Given the description of an element on the screen output the (x, y) to click on. 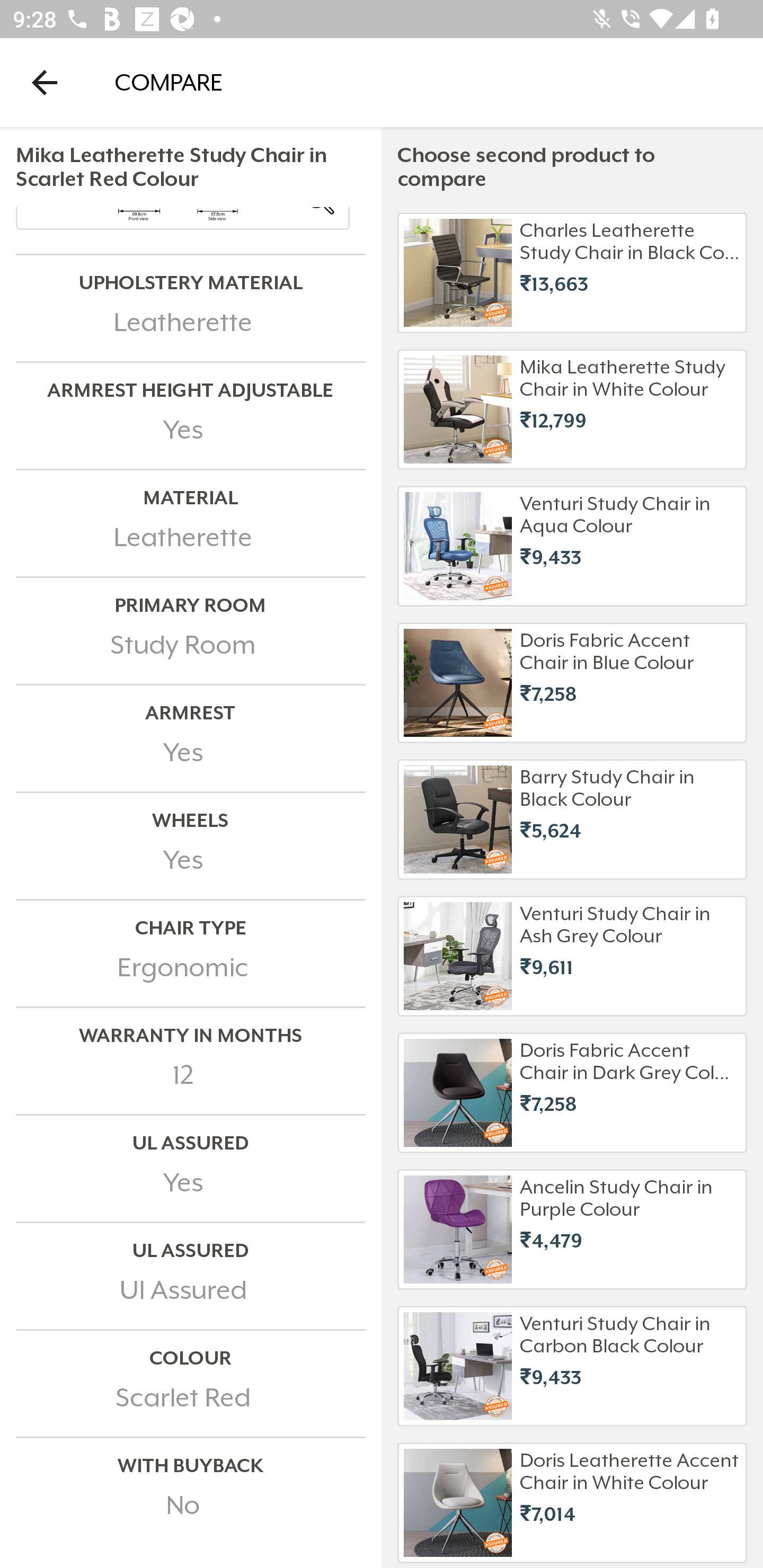
Navigate up (44, 82)
Venturi Study Chair in Aqua Colour ₹9,433 (571, 546)
Doris Fabric Accent Chair in Blue Colour ₹7,258 (571, 682)
Barry Study Chair in Black Colour ₹5,624 (571, 818)
Venturi Study Chair in Ash Grey Colour ₹9,611 (571, 955)
Ancelin Study Chair in Purple Colour ₹4,479 (571, 1229)
Venturi Study Chair in Carbon Black Colour ₹9,433 (571, 1366)
